Given the description of an element on the screen output the (x, y) to click on. 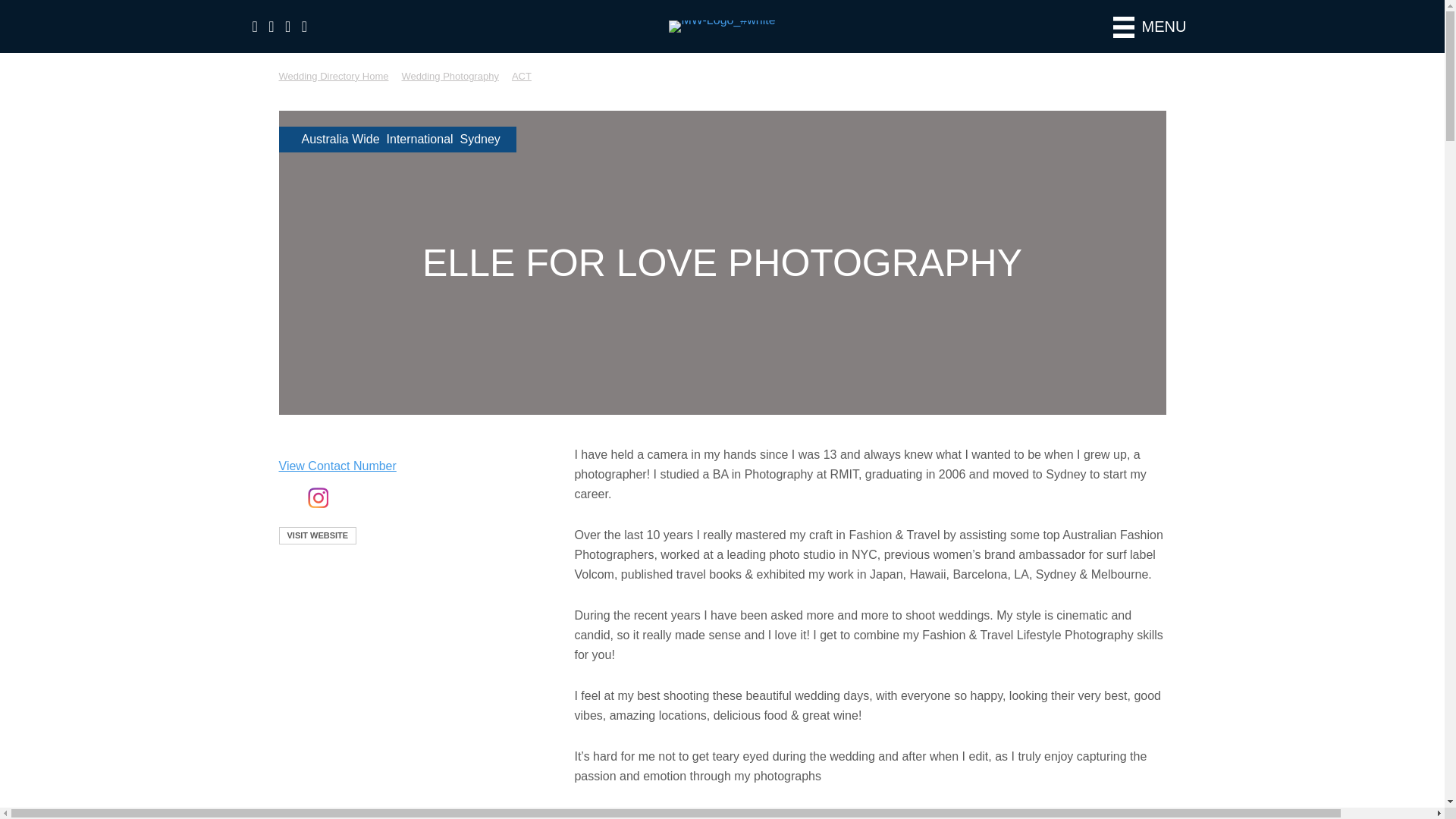
Add to favourites (375, 535)
